Given the description of an element on the screen output the (x, y) to click on. 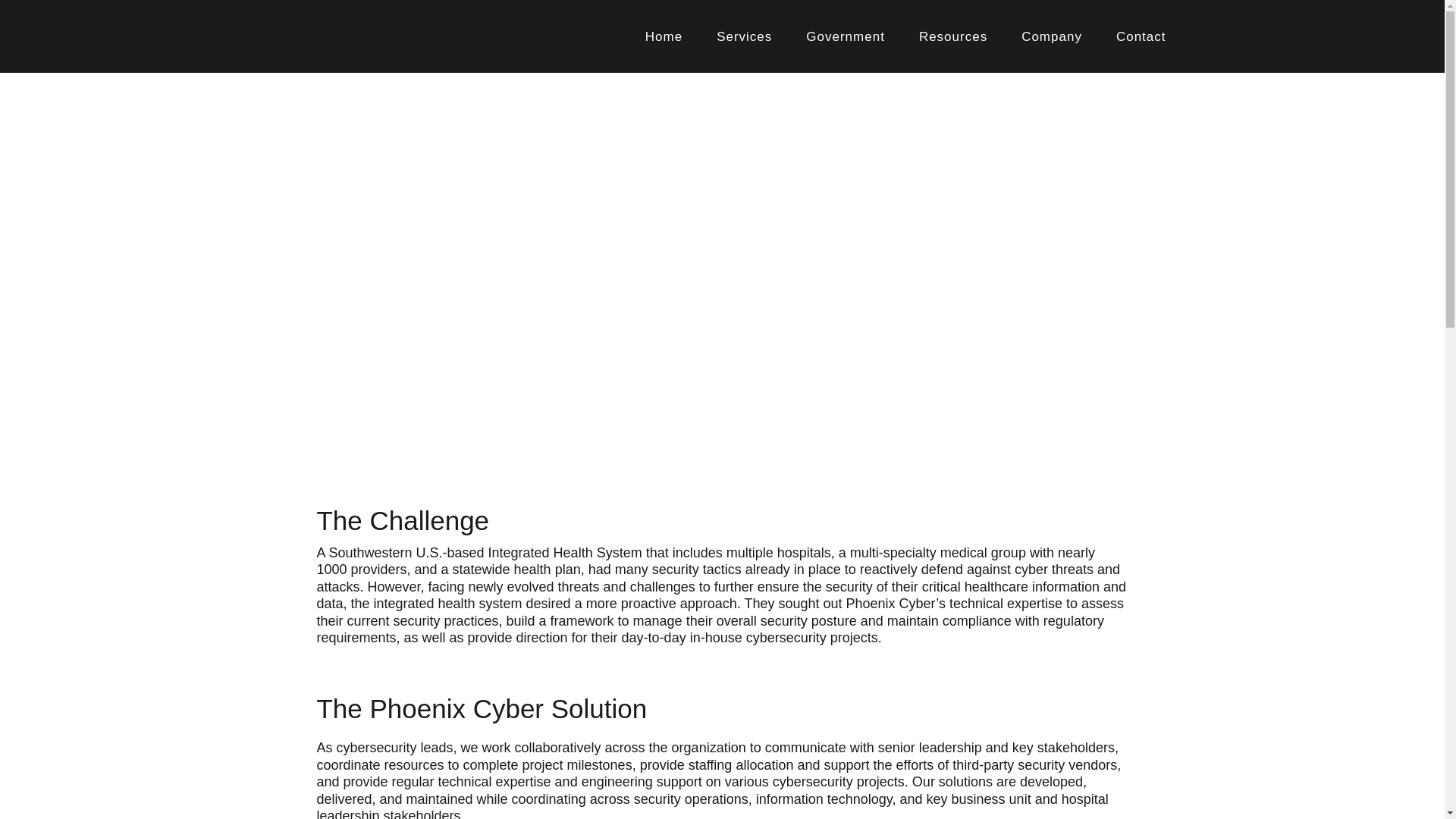
Government (845, 36)
Resources (952, 36)
